Given the description of an element on the screen output the (x, y) to click on. 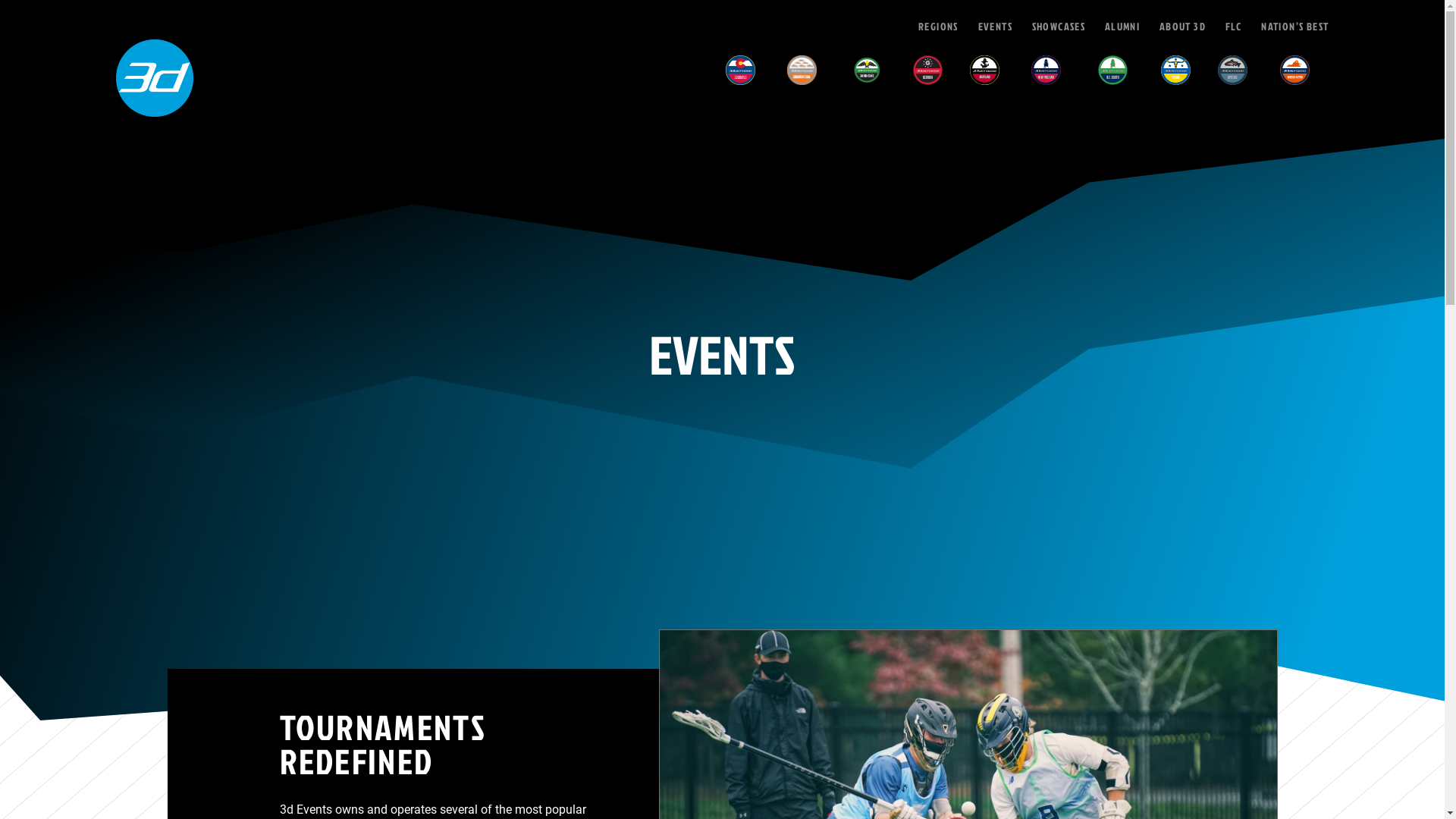
ALUMNI Element type: text (1121, 26)
ABOUT 3D Element type: text (1182, 26)
FLC Element type: text (1233, 26)
SHOWCASES Element type: text (1058, 26)
REGIONS Element type: text (938, 26)
EVENTS Element type: text (995, 26)
